Given the description of an element on the screen output the (x, y) to click on. 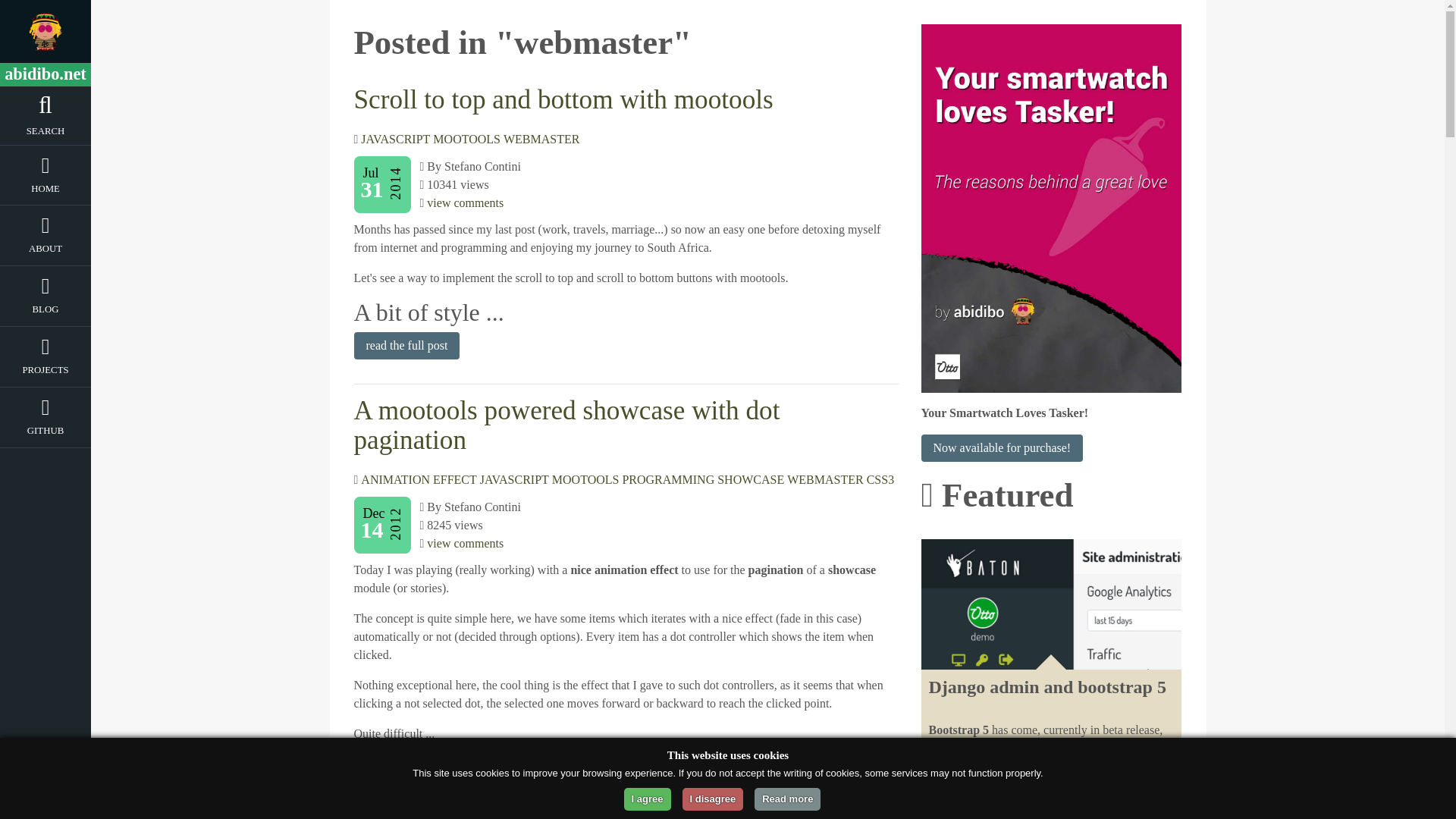
ANIMATION (395, 479)
MOOTOOLS (466, 138)
Github (45, 433)
view comments (464, 543)
WEBMASTER (541, 138)
abidibo (45, 31)
About (45, 251)
CSS3 (879, 479)
read the full post (406, 768)
SHOWCASE (750, 479)
view comments (464, 202)
GITHUB (45, 433)
JAVASCRIPT (395, 138)
A mootools powered showcase with dot pagination (565, 425)
PROJECTS (45, 373)
